Given the description of an element on the screen output the (x, y) to click on. 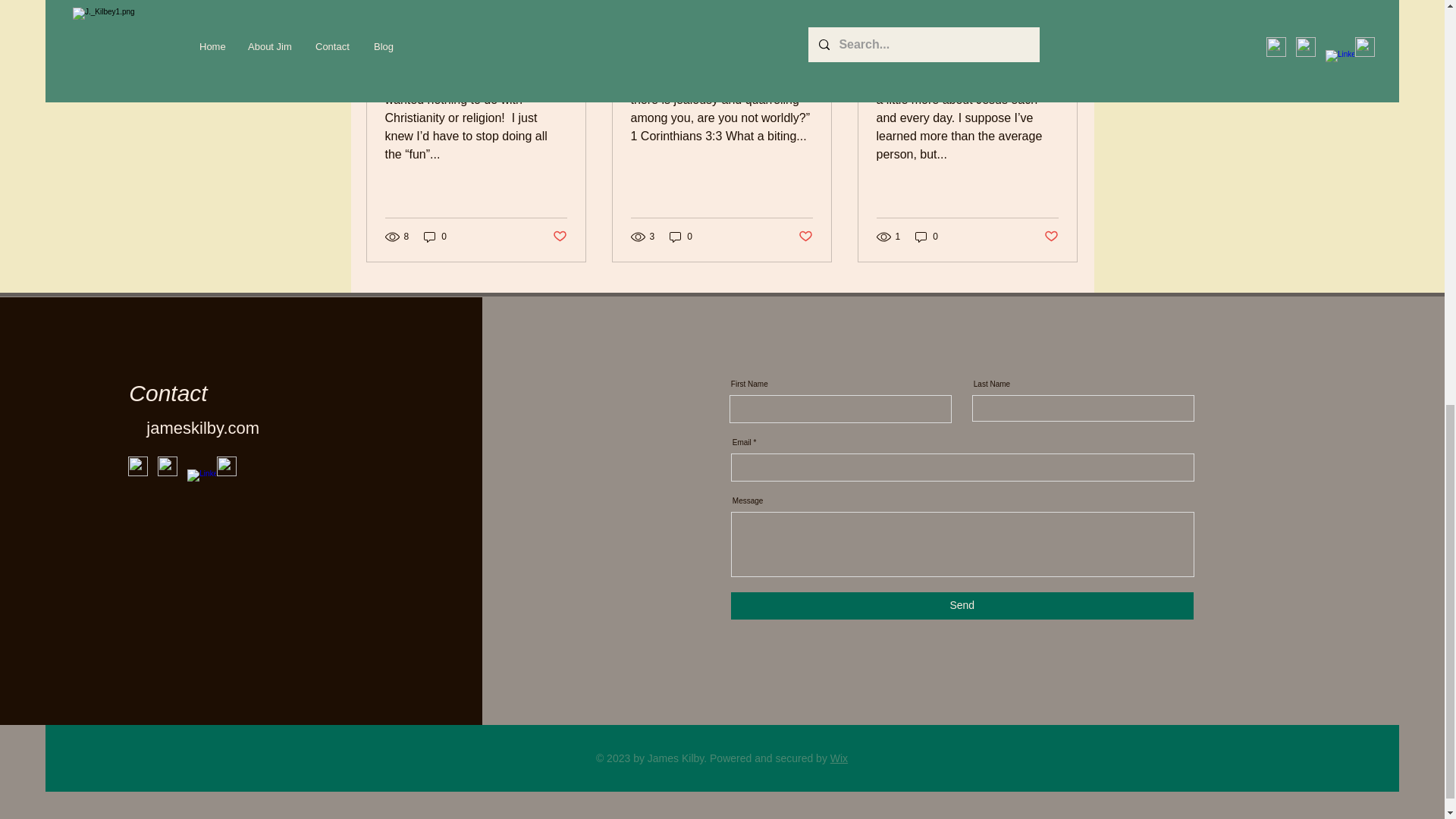
Worldly? (721, 52)
Post not marked as liked (804, 236)
Scrub Up? (476, 52)
See All (1061, 5)
Post not marked as liked (558, 236)
0 (681, 236)
Students? (967, 52)
0 (435, 236)
